Given the description of an element on the screen output the (x, y) to click on. 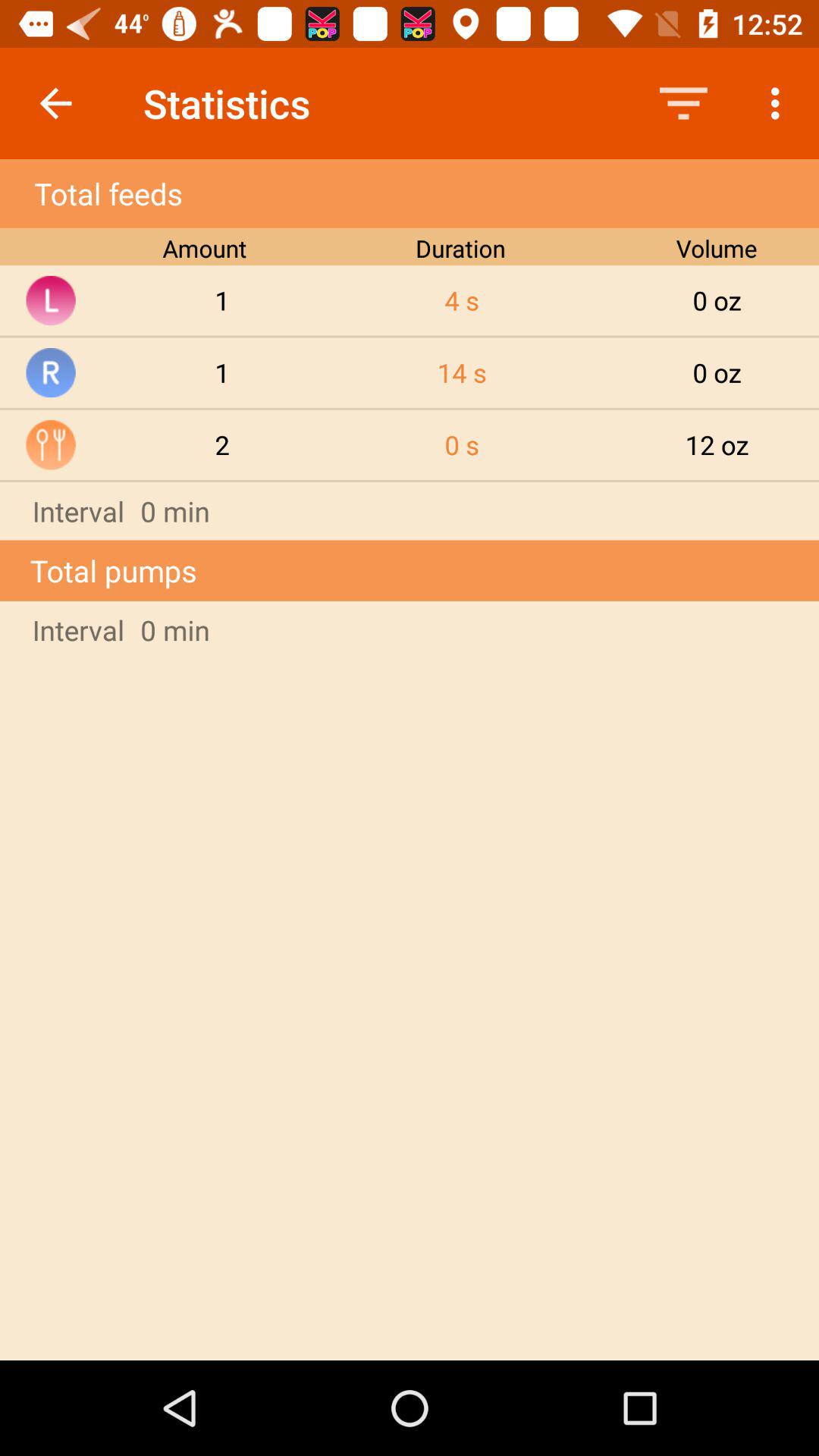
turn off 12 oz (717, 445)
